Given the description of an element on the screen output the (x, y) to click on. 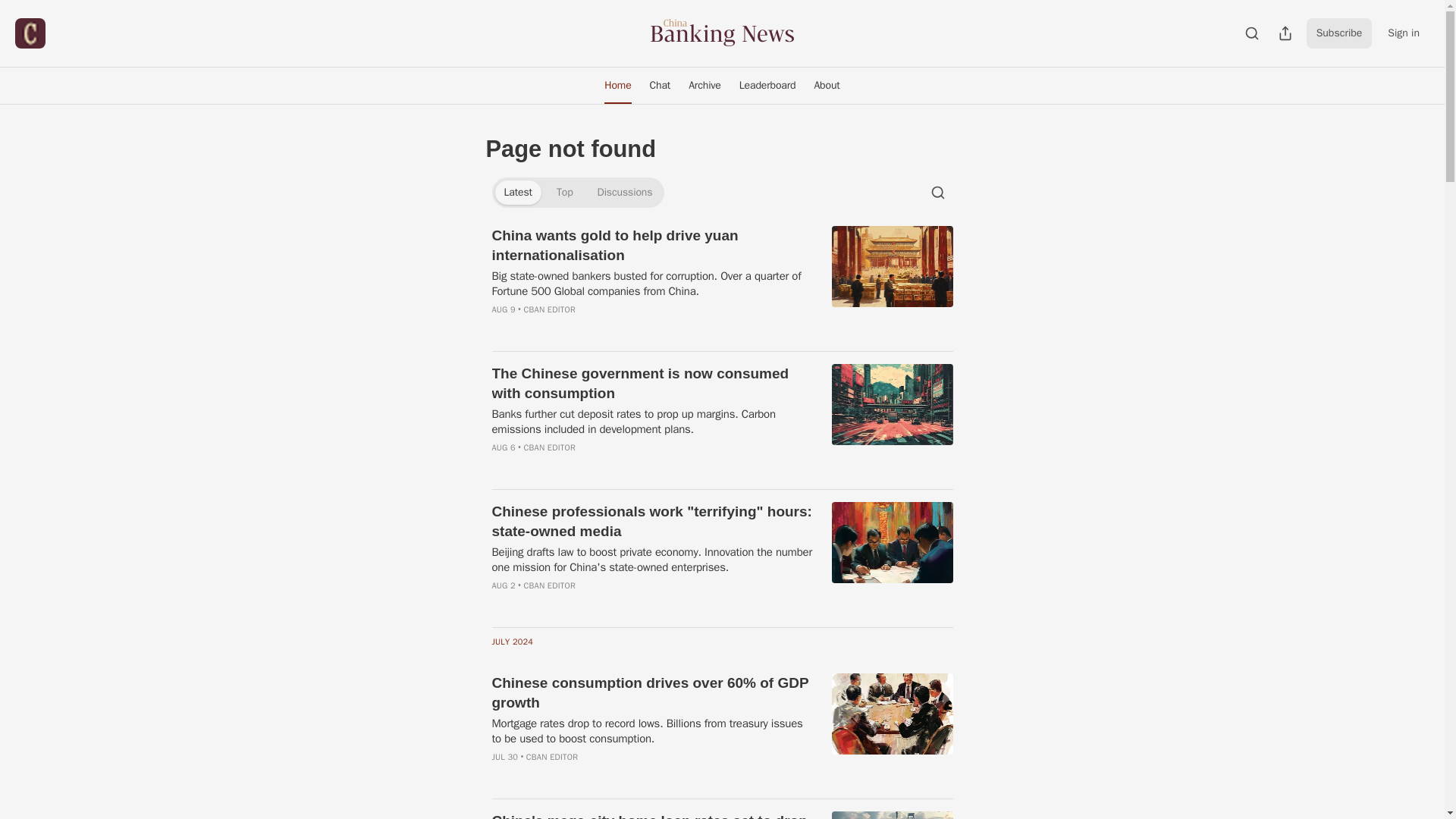
Leaderboard (767, 85)
Discussions (625, 192)
About (826, 85)
Home (617, 85)
Subscribe (1339, 33)
Sign in (1403, 33)
Chat (659, 85)
Latest (517, 192)
